Given the description of an element on the screen output the (x, y) to click on. 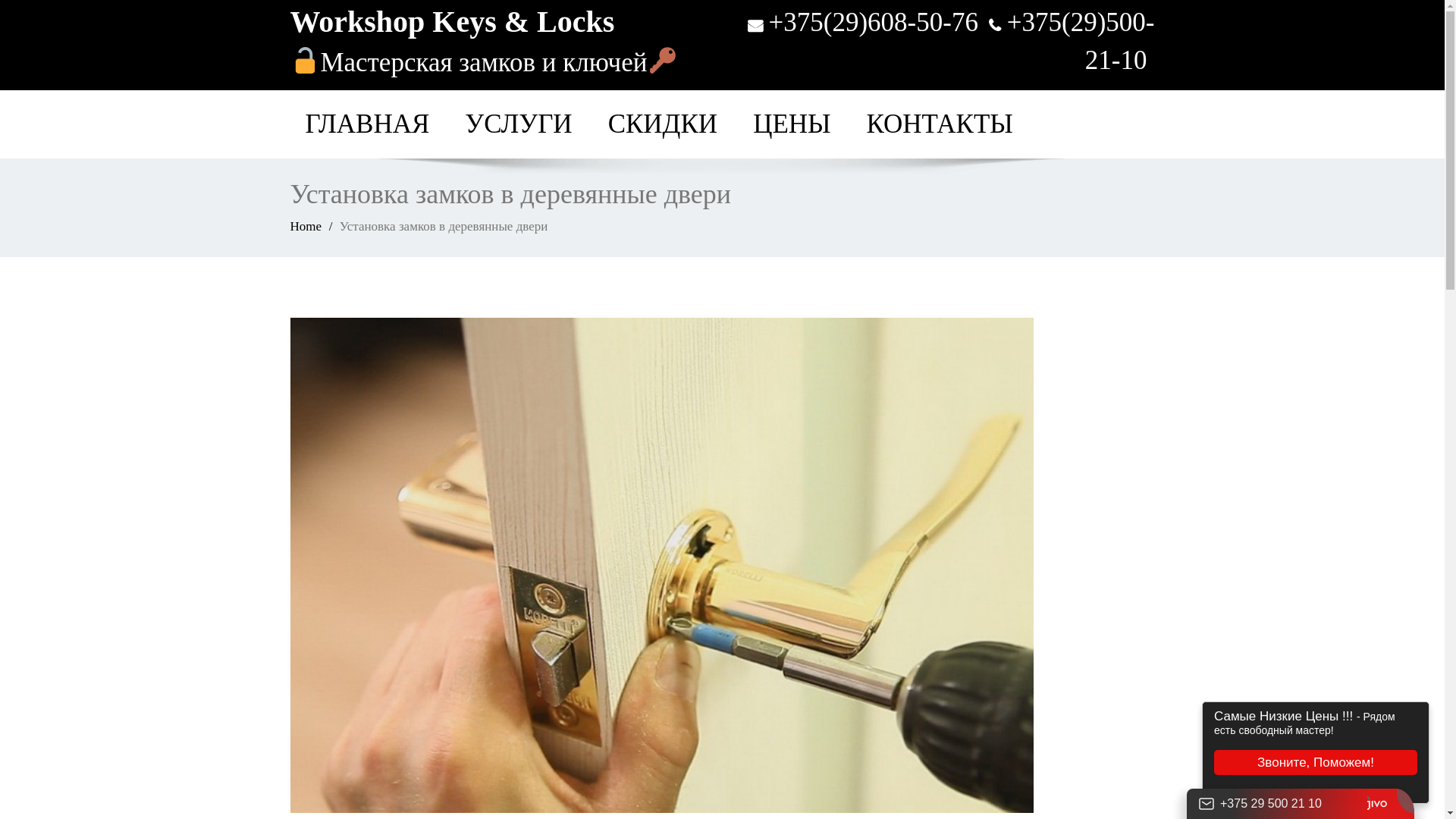
Home Element type: text (305, 226)
+375(29)500-21-10 Element type: text (1080, 41)
+375(29)608-50-76 Element type: text (873, 22)
Workshop Keys & Locks Element type: text (451, 21)
